Given the description of an element on the screen output the (x, y) to click on. 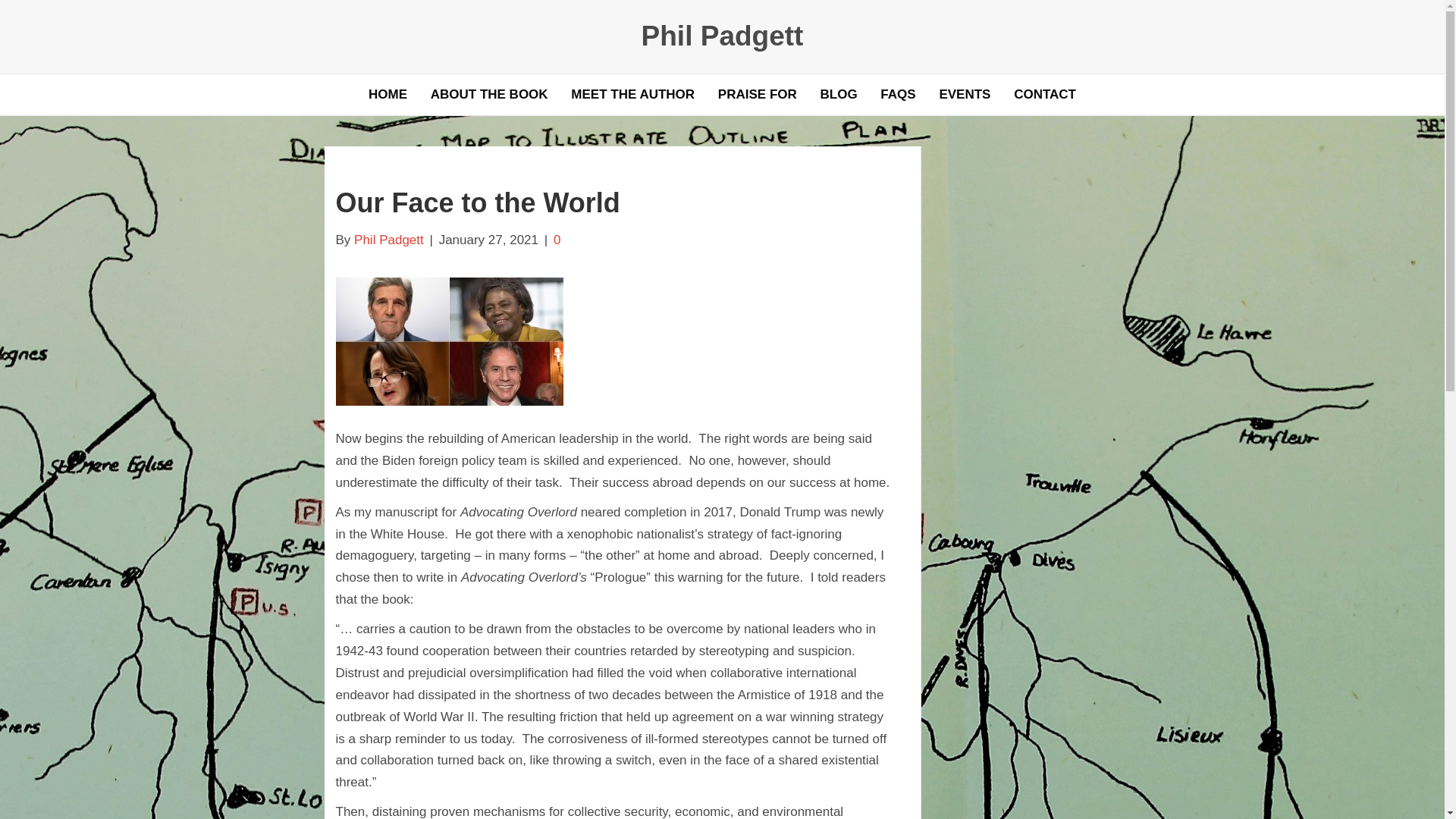
CONTACT (1045, 94)
ABOUT THE BOOK (488, 94)
FAQS (897, 94)
EVENTS (964, 94)
PRAISE FOR (756, 94)
Phil Padgett (388, 239)
HOME (387, 94)
Phil Padgett (721, 36)
MEET THE AUTHOR (632, 94)
BLOG (837, 94)
